Given the description of an element on the screen output the (x, y) to click on. 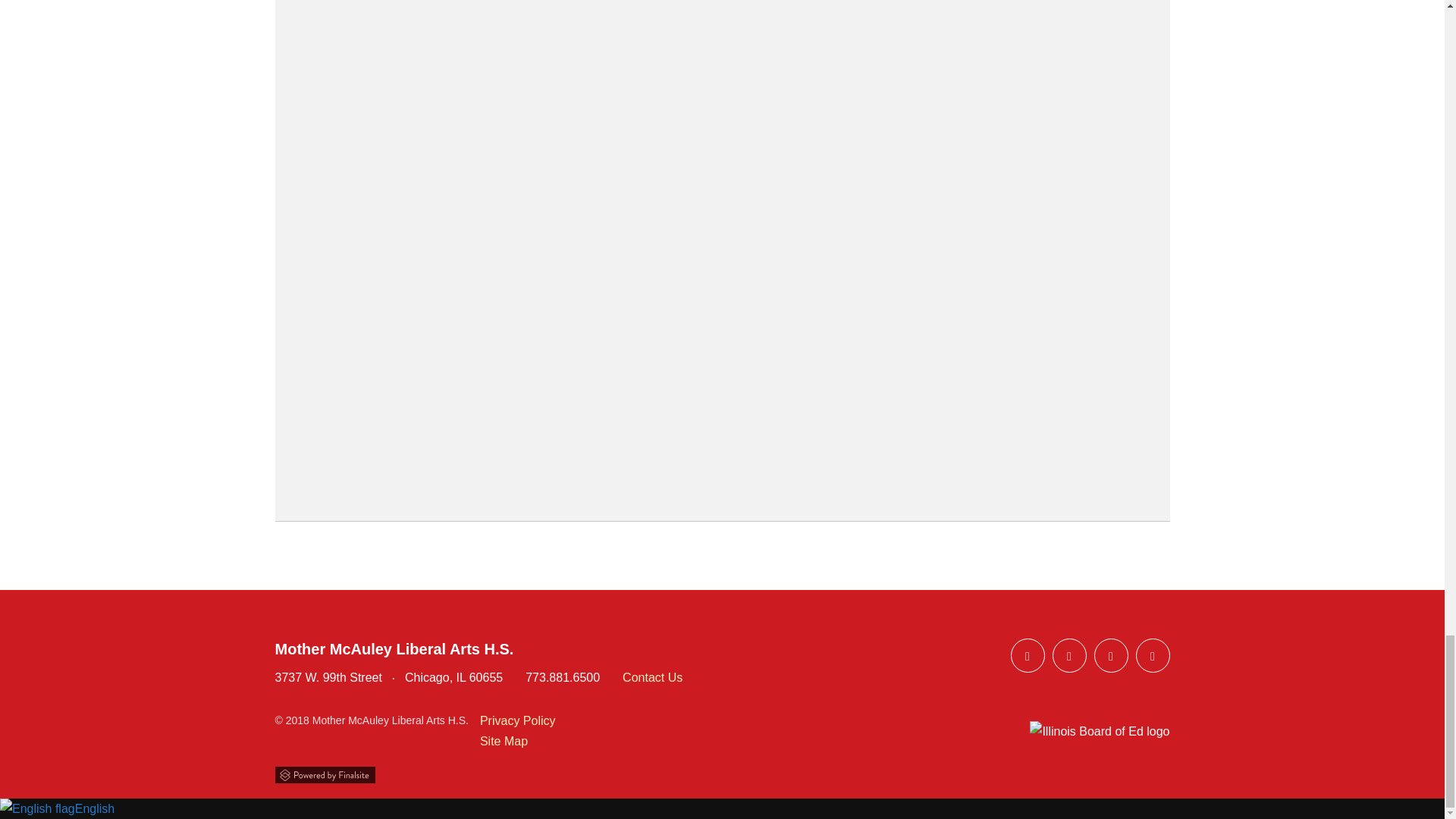
Powered by Finalsite opens in a new window (722, 772)
